Given the description of an element on the screen output the (x, y) to click on. 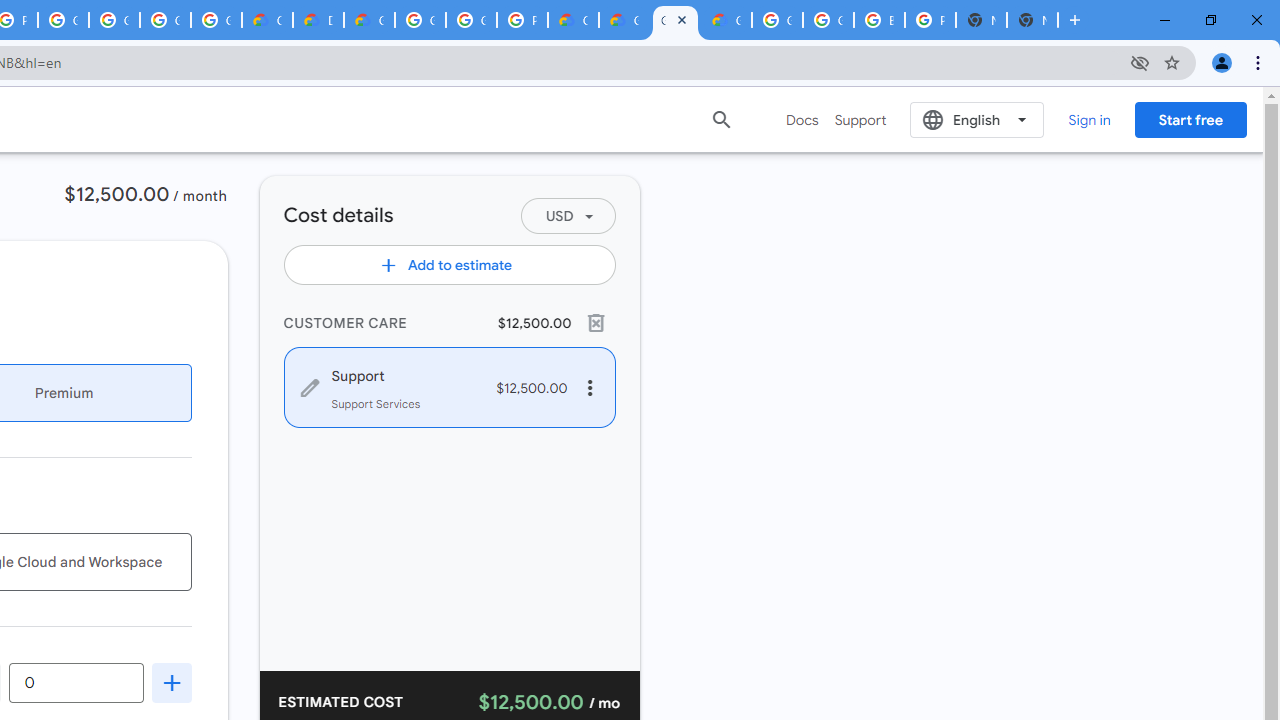
Gemini for Business and Developers | Google Cloud (369, 20)
Docs (802, 119)
Start free (1190, 119)
Rename Support (399, 374)
Add to estimate (448, 264)
Google Cloud Platform (827, 20)
Edit service (309, 387)
